Given the description of an element on the screen output the (x, y) to click on. 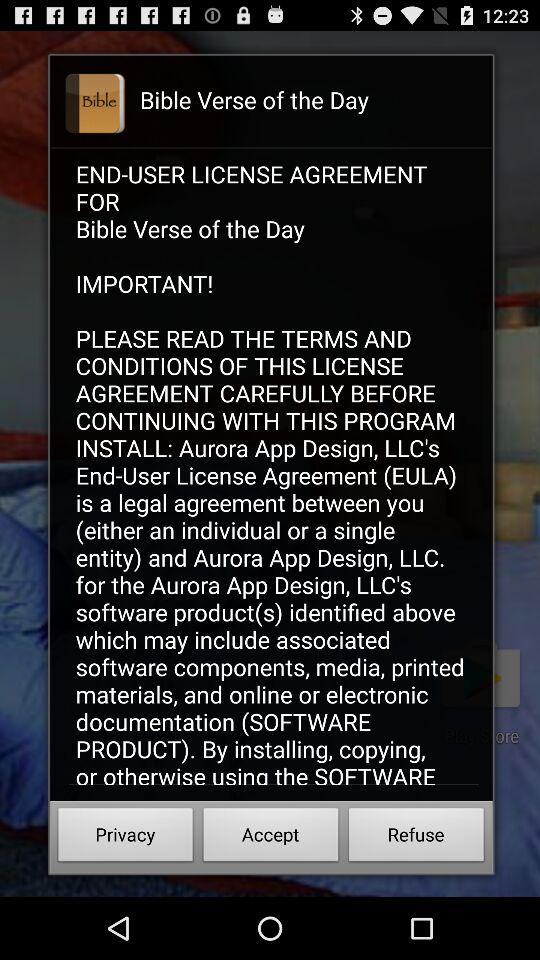
turn on icon next to the privacy button (270, 837)
